Given the description of an element on the screen output the (x, y) to click on. 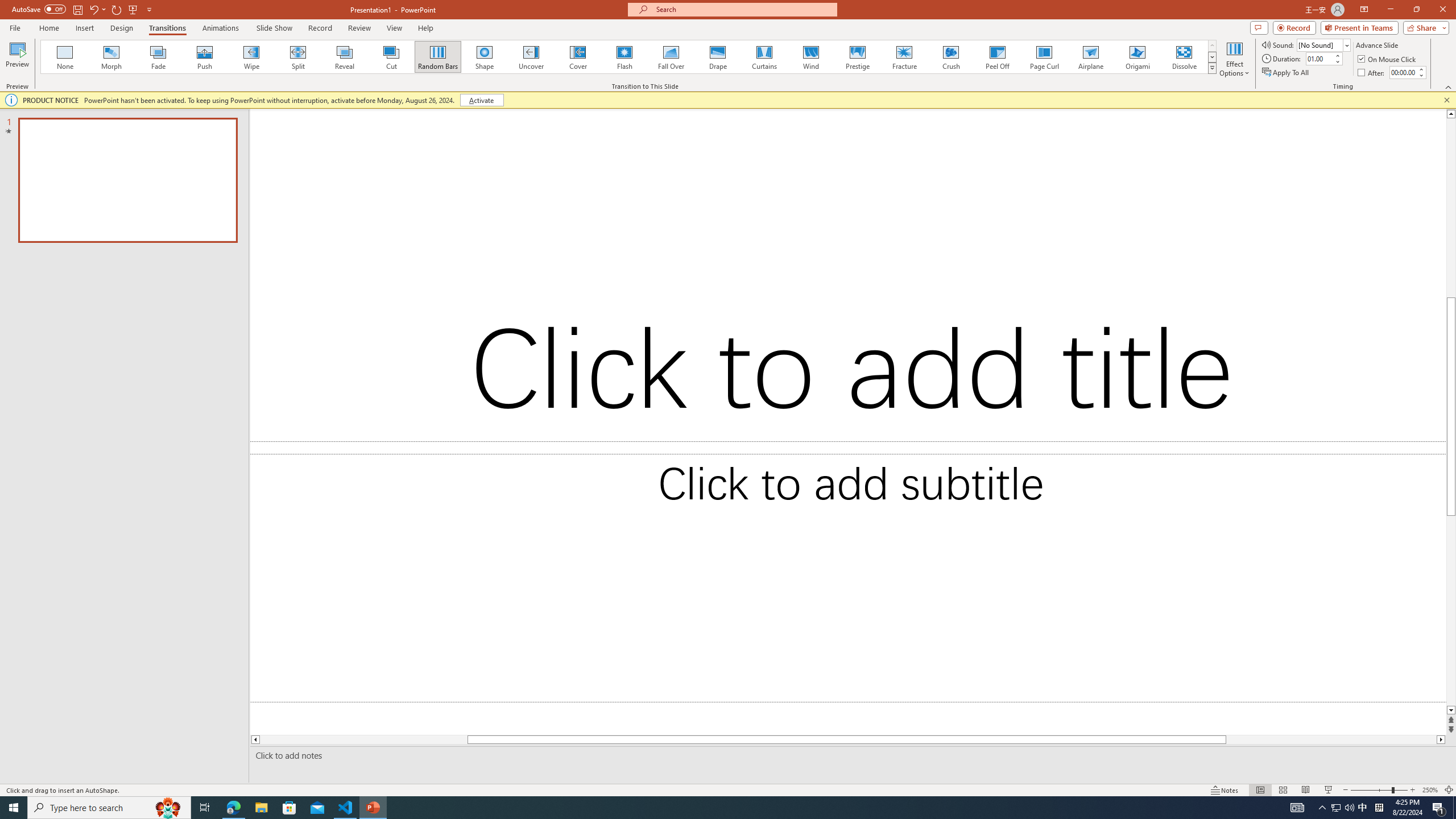
Origami (1136, 56)
Wind (810, 56)
Reveal (344, 56)
Zoom 250% (1430, 790)
Sound (1324, 44)
Crush (950, 56)
